Given the description of an element on the screen output the (x, y) to click on. 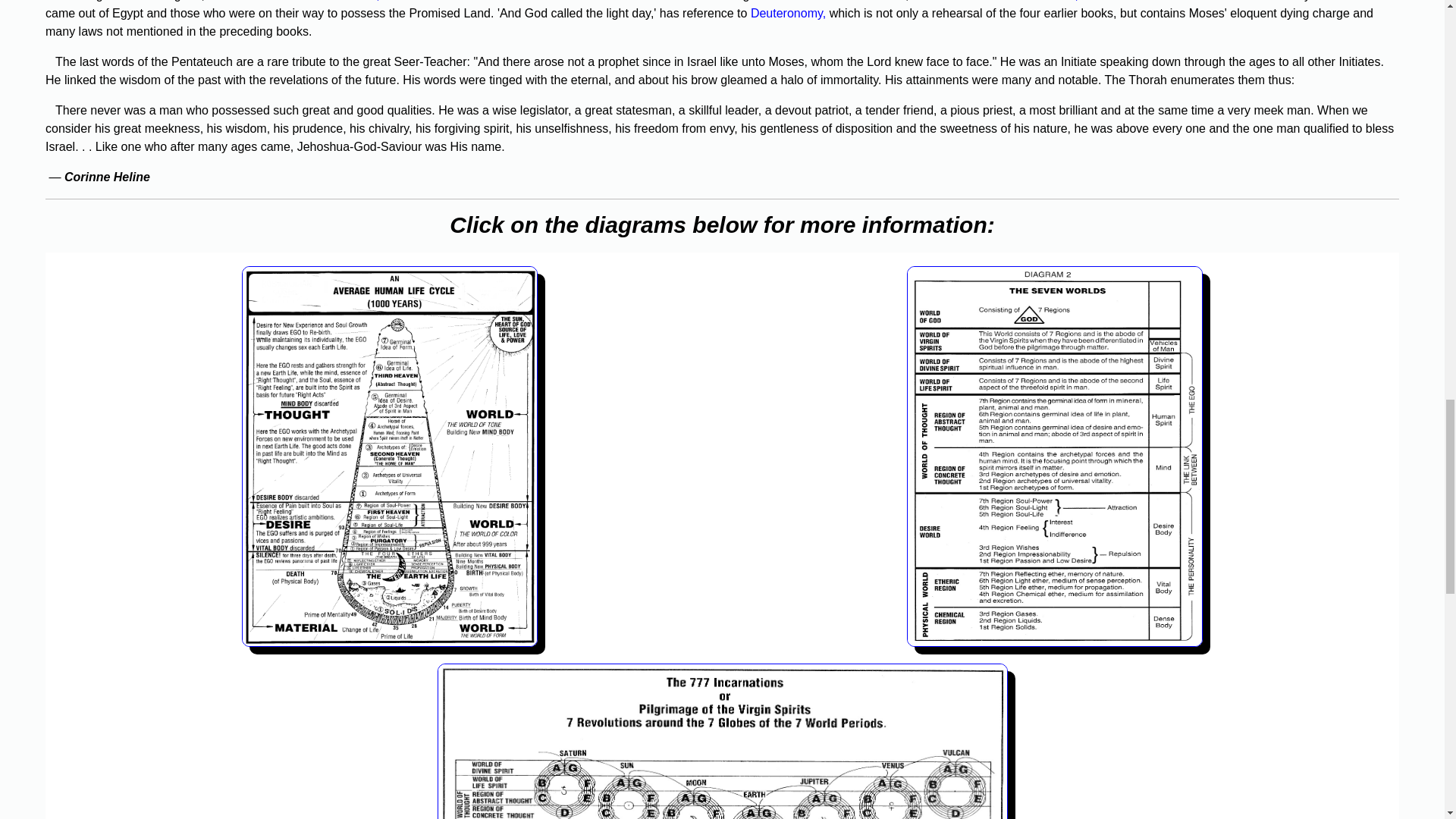
Deuteronomy, (788, 12)
book of Numbers, (1030, 0)
Leviticus, (354, 0)
